Given the description of an element on the screen output the (x, y) to click on. 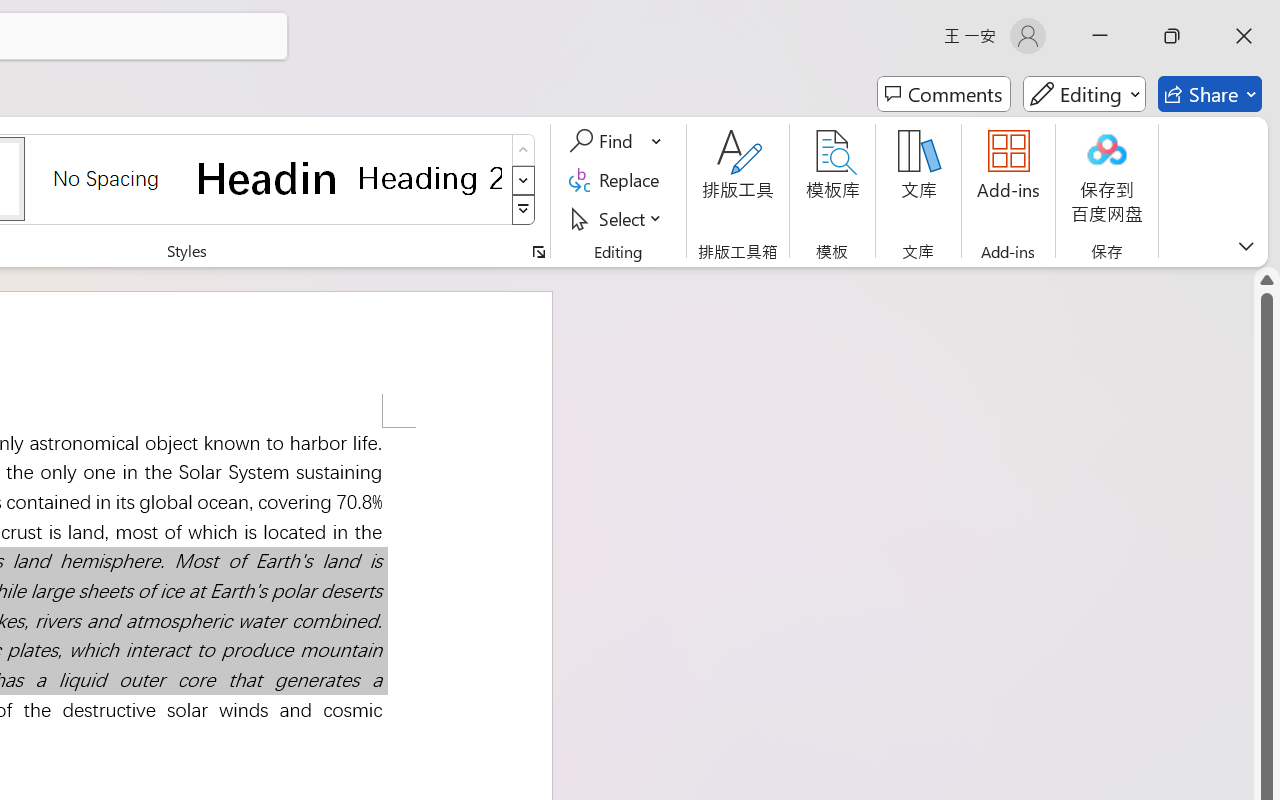
Replace... (617, 179)
